Given the description of an element on the screen output the (x, y) to click on. 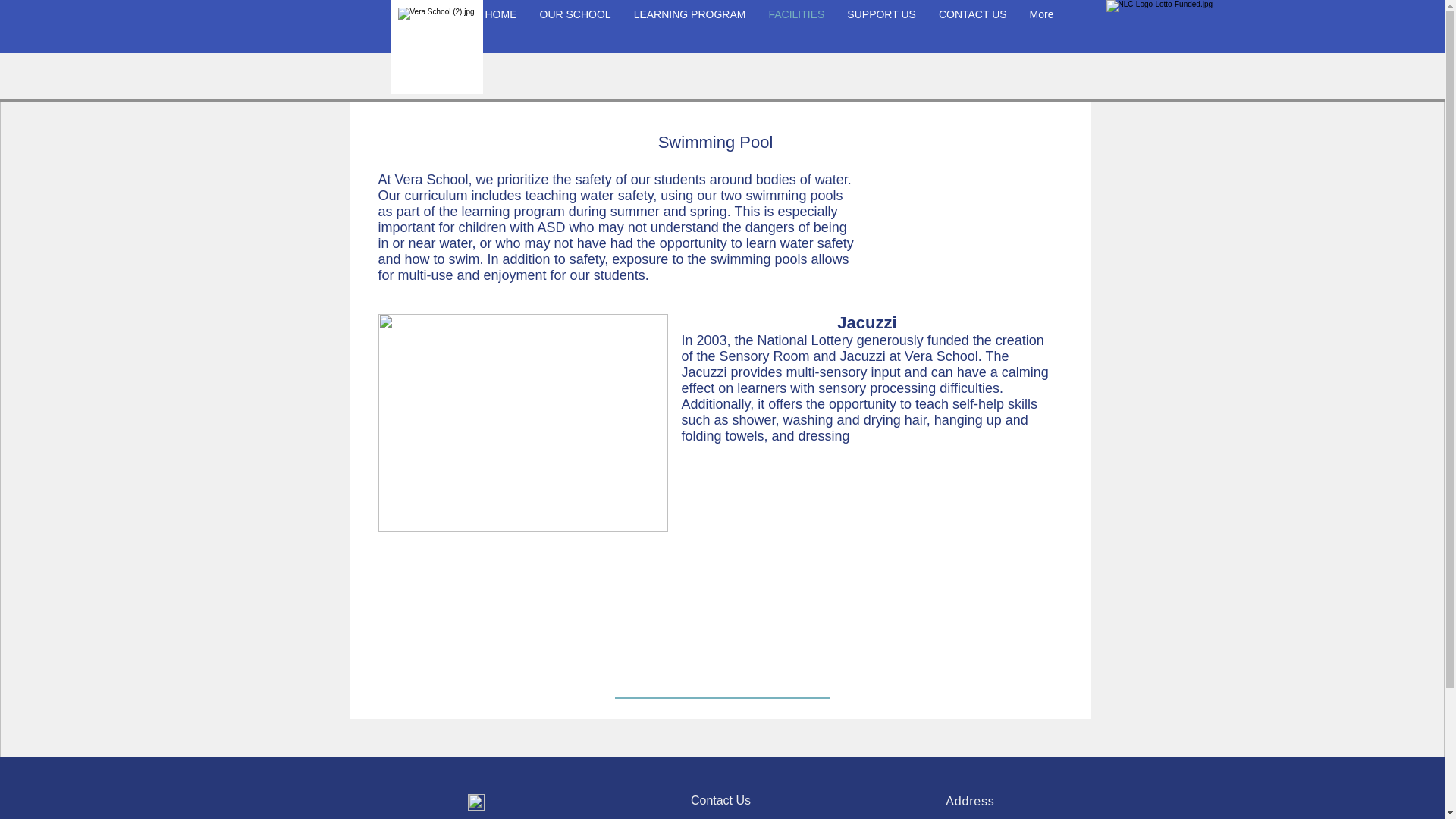
CONTACT US (972, 26)
SUPPORT US (881, 26)
LEARNING PROGRAM (690, 26)
OUR SCHOOL (574, 26)
FACILITIES (796, 26)
HOME (500, 26)
